Given the description of an element on the screen output the (x, y) to click on. 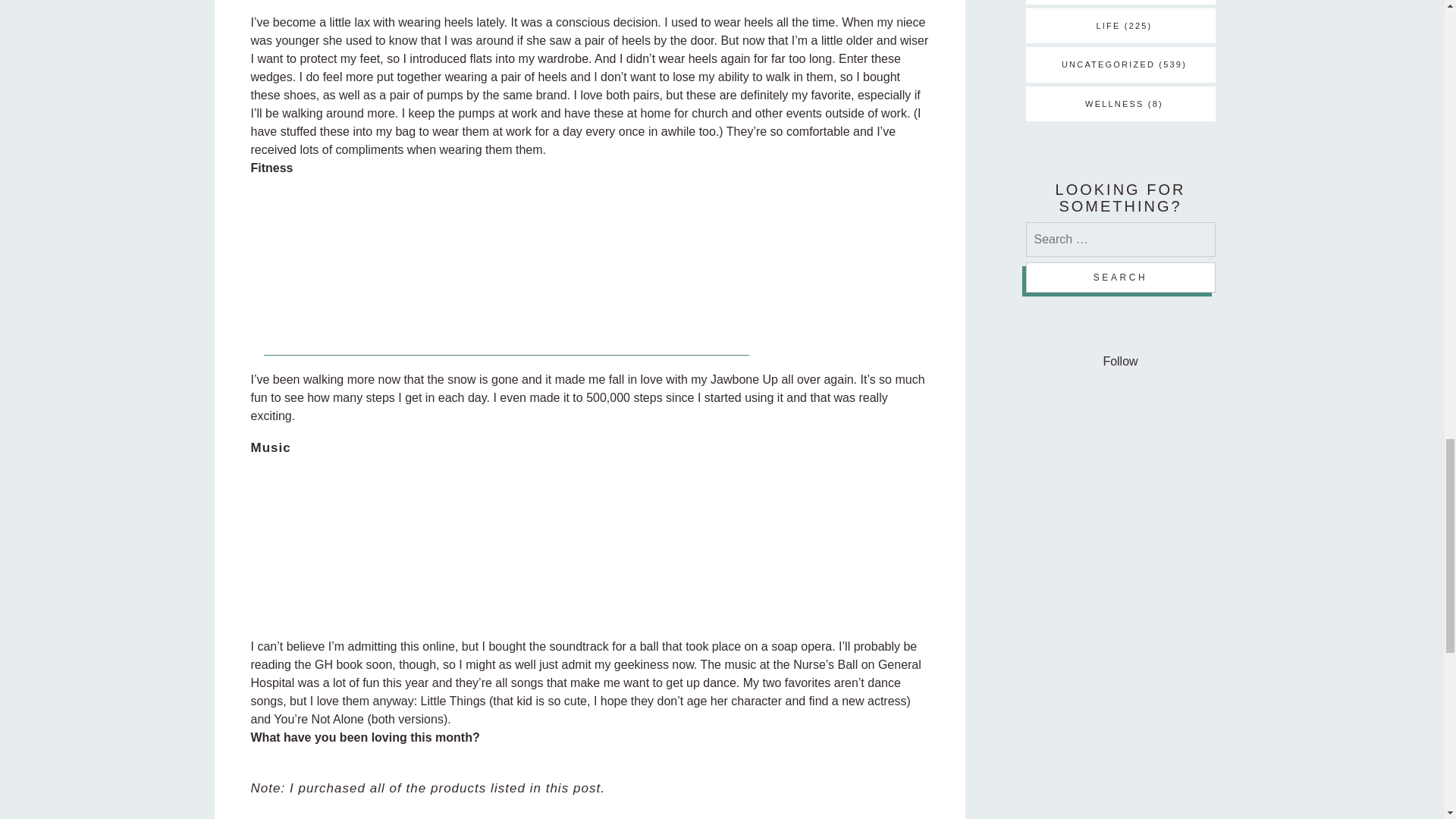
same brand (534, 94)
Search (1119, 277)
Search (1119, 277)
